Given the description of an element on the screen output the (x, y) to click on. 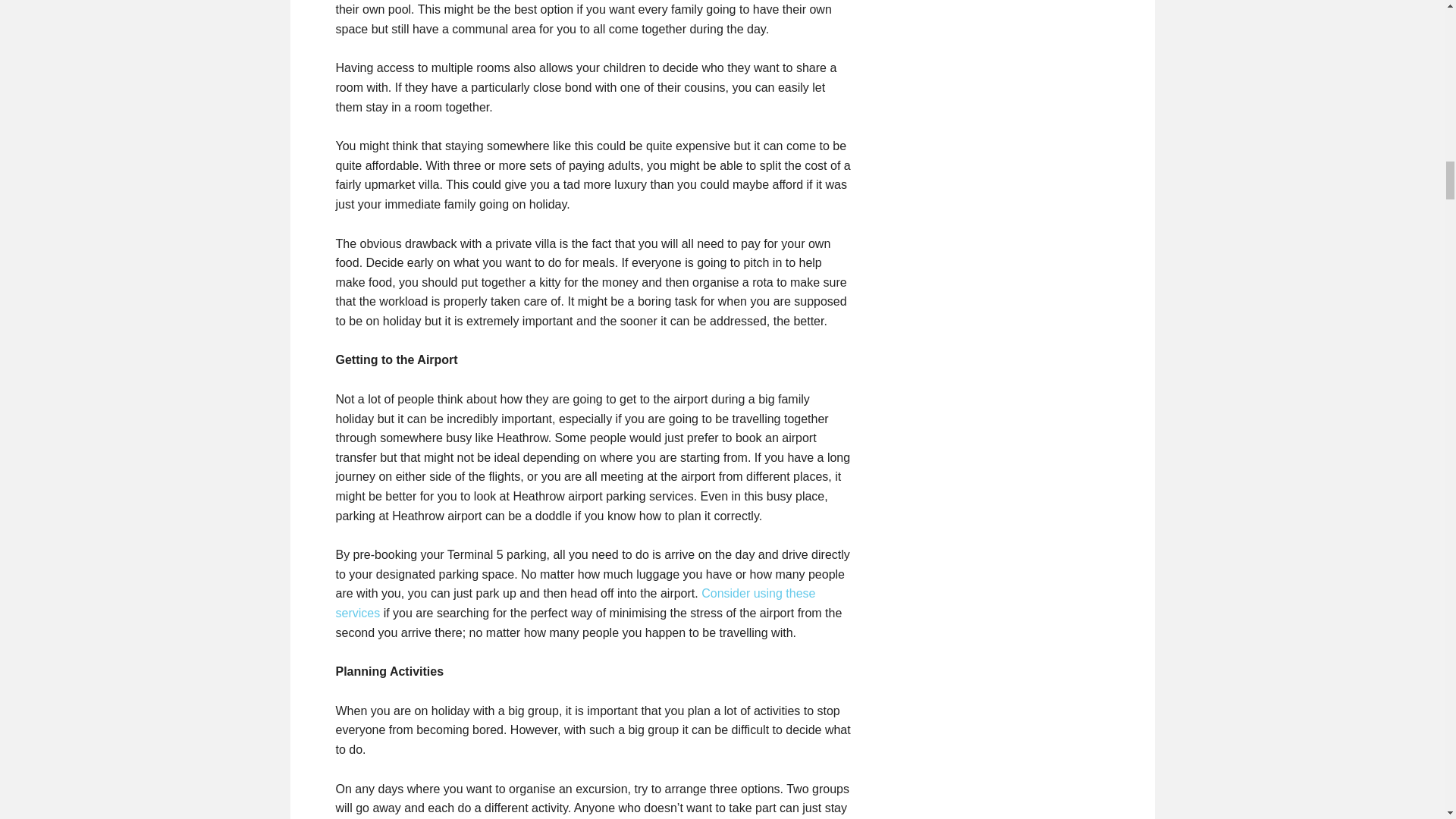
Consider using these services (574, 603)
